Given the description of an element on the screen output the (x, y) to click on. 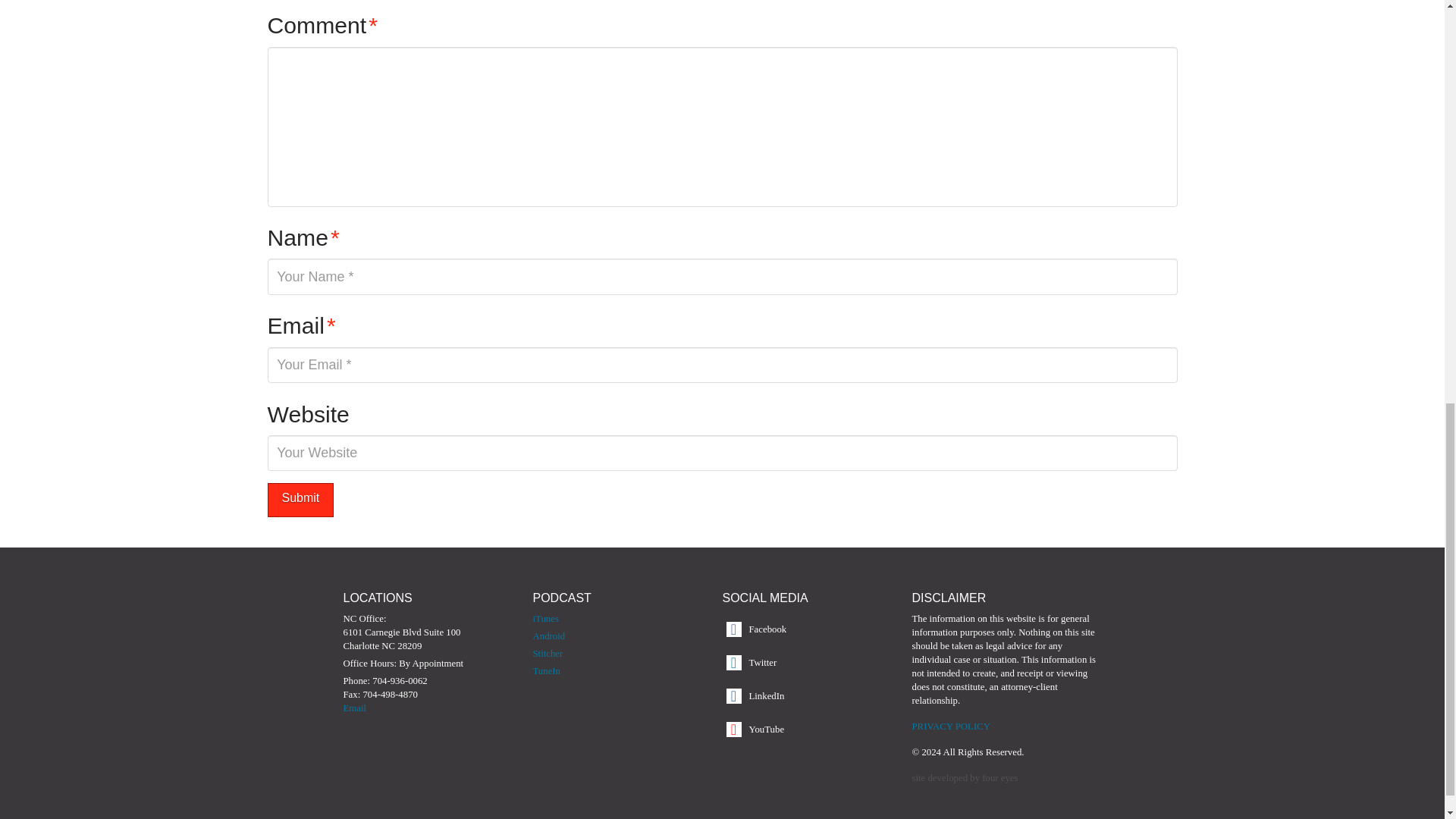
Twitter (764, 662)
Submit (299, 499)
Email (354, 707)
PRIVACY POLICY (950, 726)
TuneIn (546, 670)
iTunes (544, 618)
Submit (299, 499)
Facebook (764, 629)
four eyes (999, 777)
LinkedIn (764, 695)
YouTube (764, 729)
Android (548, 635)
Stitcher (547, 653)
